Given the description of an element on the screen output the (x, y) to click on. 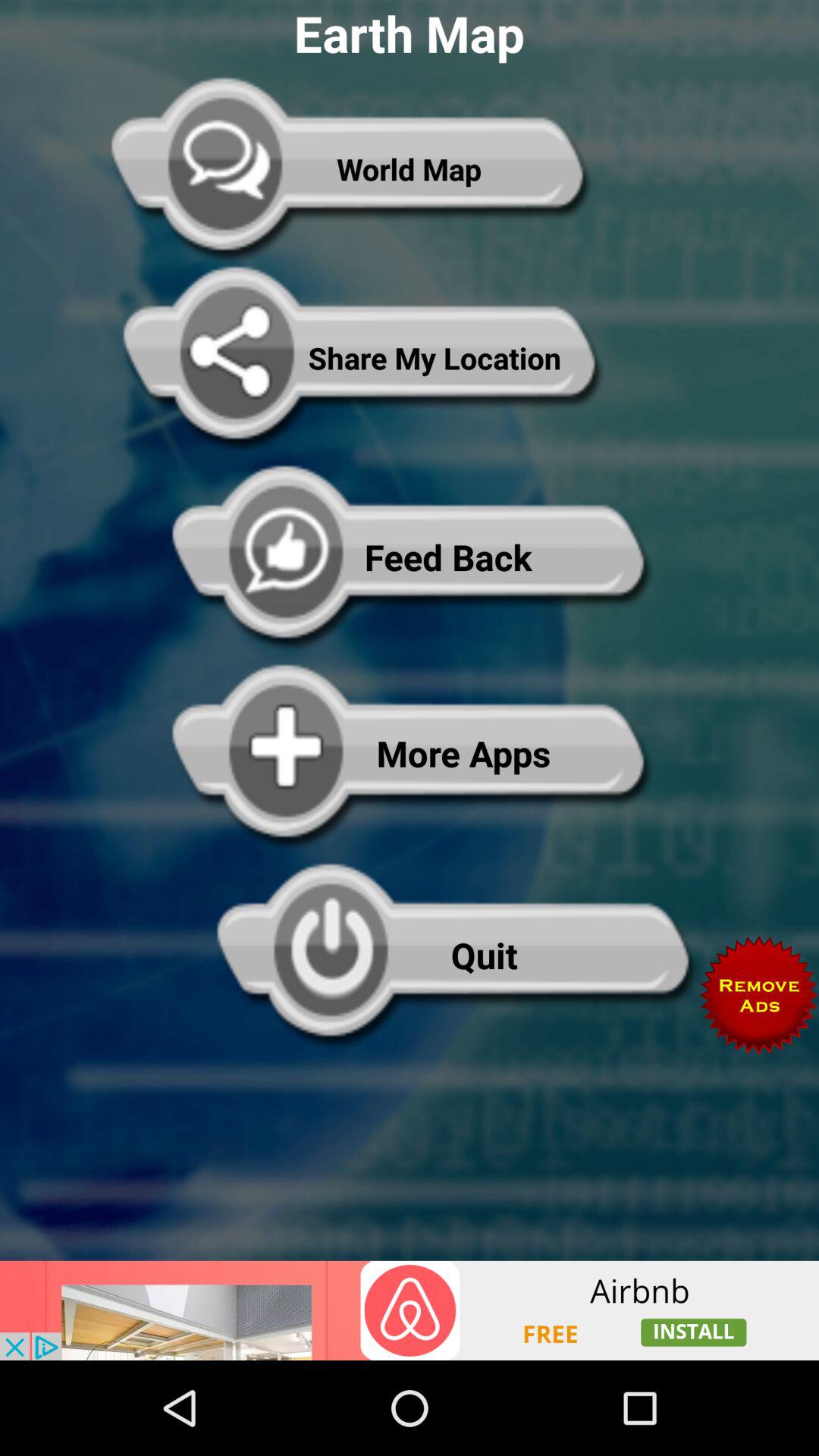
remove advertisements (759, 995)
